Given the description of an element on the screen output the (x, y) to click on. 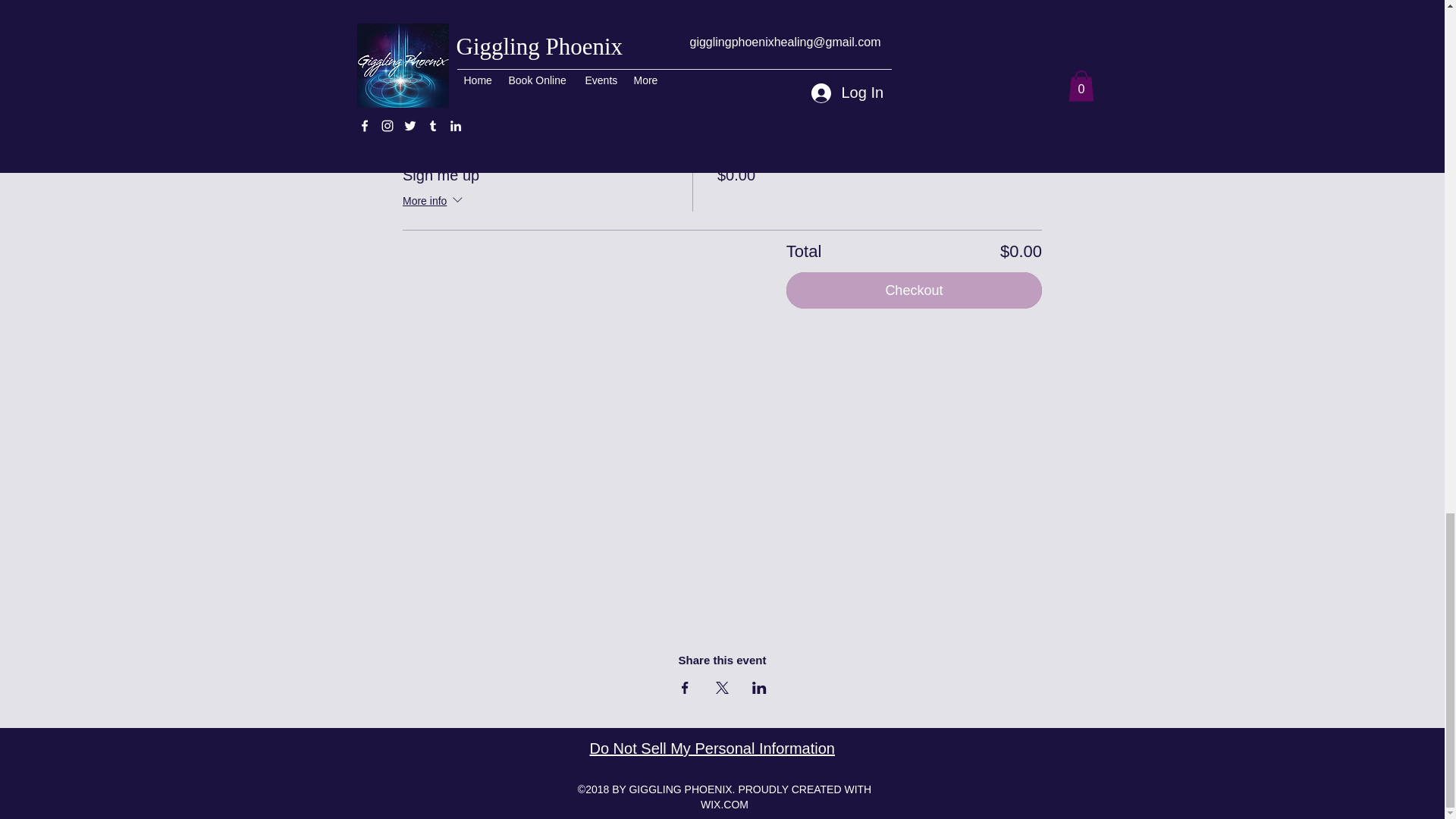
Checkout (914, 289)
More info (434, 201)
Do Not Sell My Personal Information (711, 748)
